Given the description of an element on the screen output the (x, y) to click on. 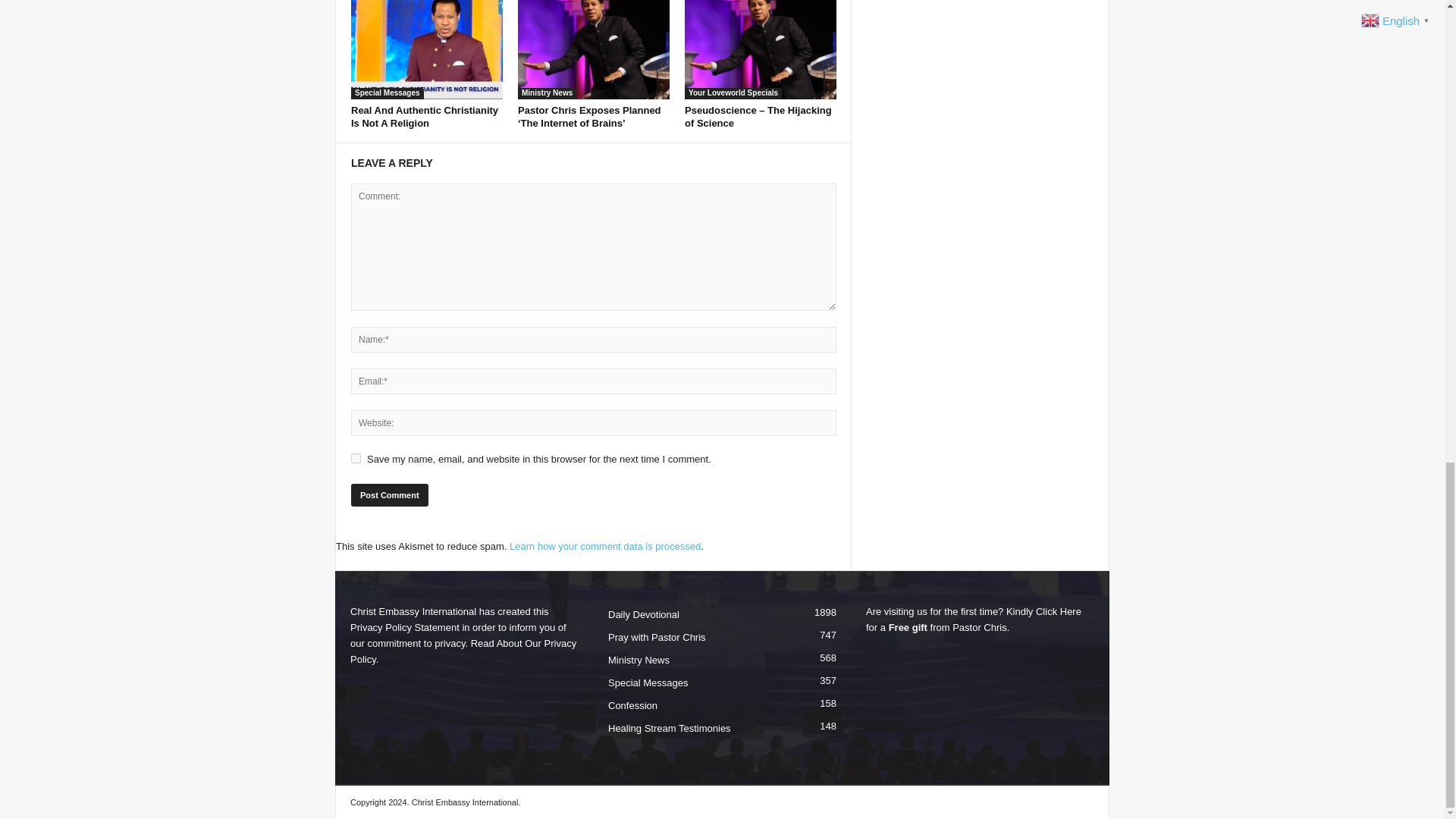
Real And Authentic Christianity Is Not A Religion (426, 49)
yes (355, 458)
Post Comment (389, 495)
